Given the description of an element on the screen output the (x, y) to click on. 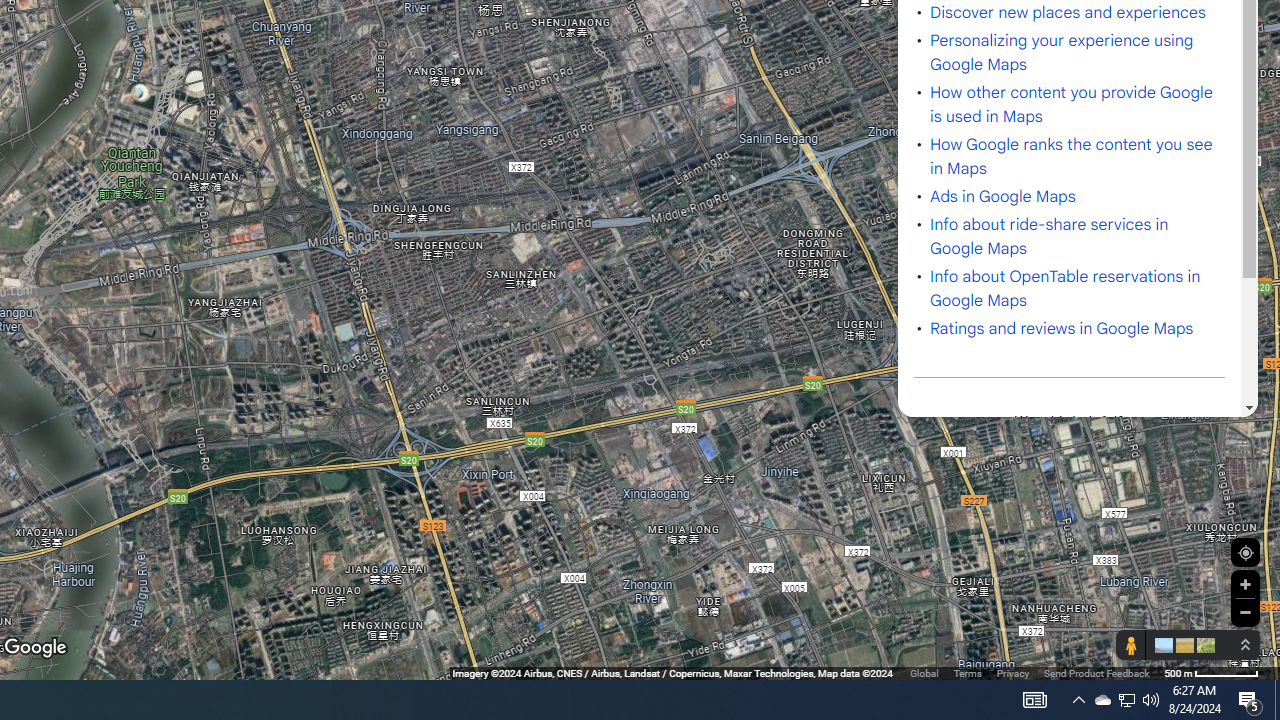
Discover new places and experiences (1067, 12)
Ads in Google Maps (1003, 197)
Show imagery (1202, 645)
Zoom in (1245, 584)
Info about OpenTable reservations in Google Maps (1065, 289)
Personalizing your experience using Google Maps (1062, 52)
How Google ranks the content you see in Maps (1071, 157)
Show Your Location (1245, 552)
Zoom out (1245, 612)
Info about ride-share services in Google Maps (1049, 237)
How other content you provide Google is used in Maps (1071, 104)
500 m (1211, 672)
Ratings and reviews in Google Maps (1062, 328)
